Given the description of an element on the screen output the (x, y) to click on. 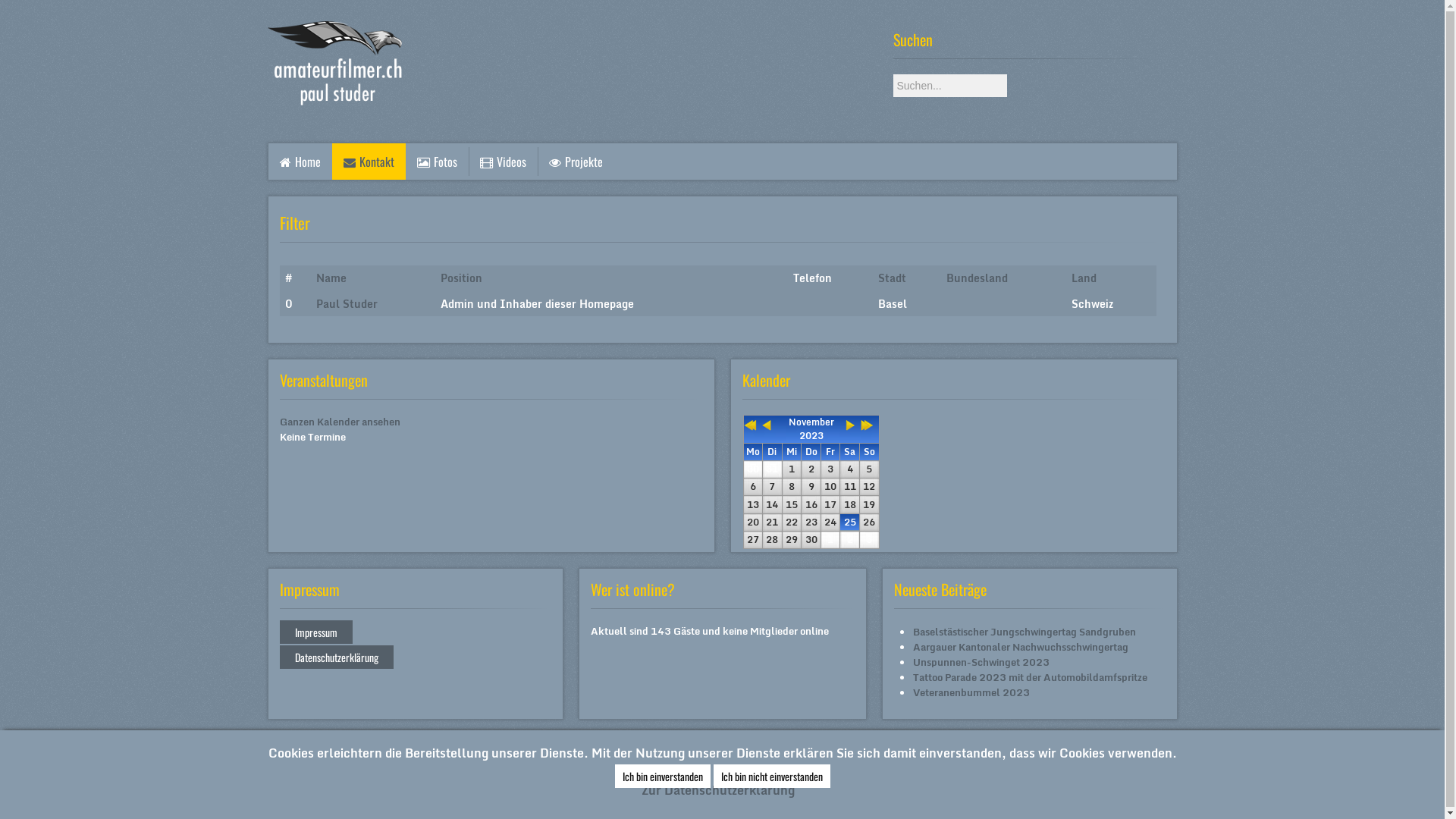
28 Element type: text (771, 539)
8 Element type: text (791, 486)
4 Element type: text (850, 468)
Fotos Element type: text (437, 161)
1 Element type: text (791, 468)
Position Element type: text (461, 277)
Impressum Element type: text (315, 631)
18 Element type: text (850, 504)
Unspunnen-Schwinget 2023 Element type: text (981, 661)
20 Element type: text (752, 521)
Paul Studer Element type: text (346, 302)
11 Element type: text (850, 486)
10 Element type: text (830, 486)
16 Element type: text (811, 504)
Veteranenbummel 2023 Element type: text (971, 692)
19 Element type: text (868, 504)
30 Element type: text (811, 539)
29 Element type: text (791, 539)
5 Element type: text (869, 468)
November Element type: text (811, 421)
Videos Element type: text (502, 161)
26 Element type: text (868, 521)
Name Element type: text (331, 277)
Ich bin nicht einverstanden Element type: text (770, 775)
9 Element type: text (811, 486)
6 Element type: text (752, 486)
Bundesland Element type: text (976, 277)
21 Element type: text (771, 521)
2023 Element type: text (811, 435)
3 Element type: text (830, 468)
27 Element type: text (752, 539)
Ganzen Kalender ansehen Element type: text (339, 421)
Tattoo Parade 2023 mit der Automobildamfspritze Element type: text (1030, 676)
17 Element type: text (830, 504)
24 Element type: text (830, 521)
Aargauer Kantonaler Nachwuchsschwingertag Element type: text (1020, 646)
Land Element type: text (1082, 277)
Home Element type: text (299, 161)
Kontakt Element type: text (367, 161)
7 Element type: text (771, 486)
Stadt Element type: text (892, 277)
Projekte Element type: text (575, 161)
15 Element type: text (791, 504)
22 Element type: text (791, 521)
25 Element type: text (850, 521)
Ich bin einverstanden Element type: text (661, 775)
14 Element type: text (771, 504)
13 Element type: text (752, 504)
23 Element type: text (811, 521)
2 Element type: text (811, 468)
12 Element type: text (868, 486)
